Given the description of an element on the screen output the (x, y) to click on. 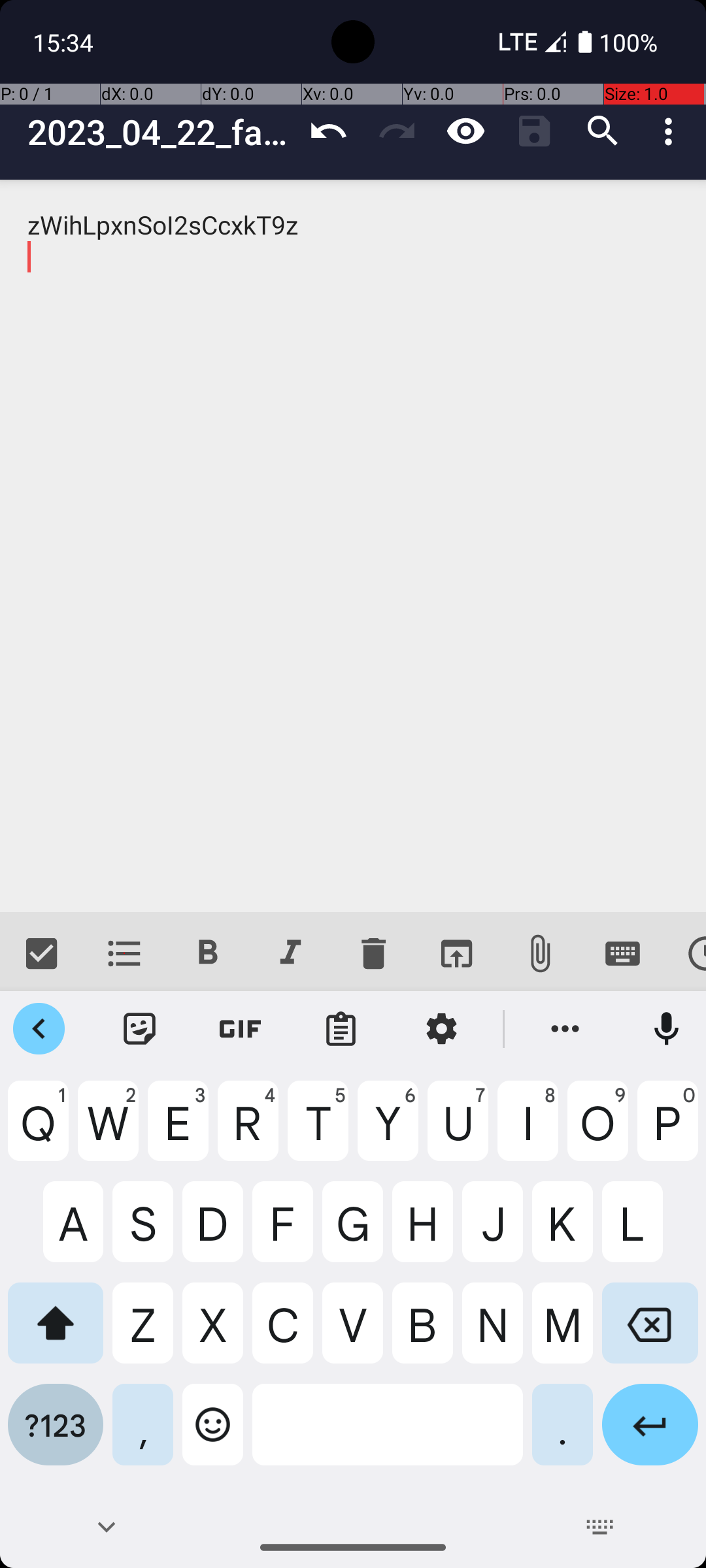
2023_04_22_favorite_book_quotes Element type: android.widget.TextView (160, 131)
zWihLpxnSoI2sCcxkT9z
-  Element type: android.widget.EditText (353, 545)
